Given the description of an element on the screen output the (x, y) to click on. 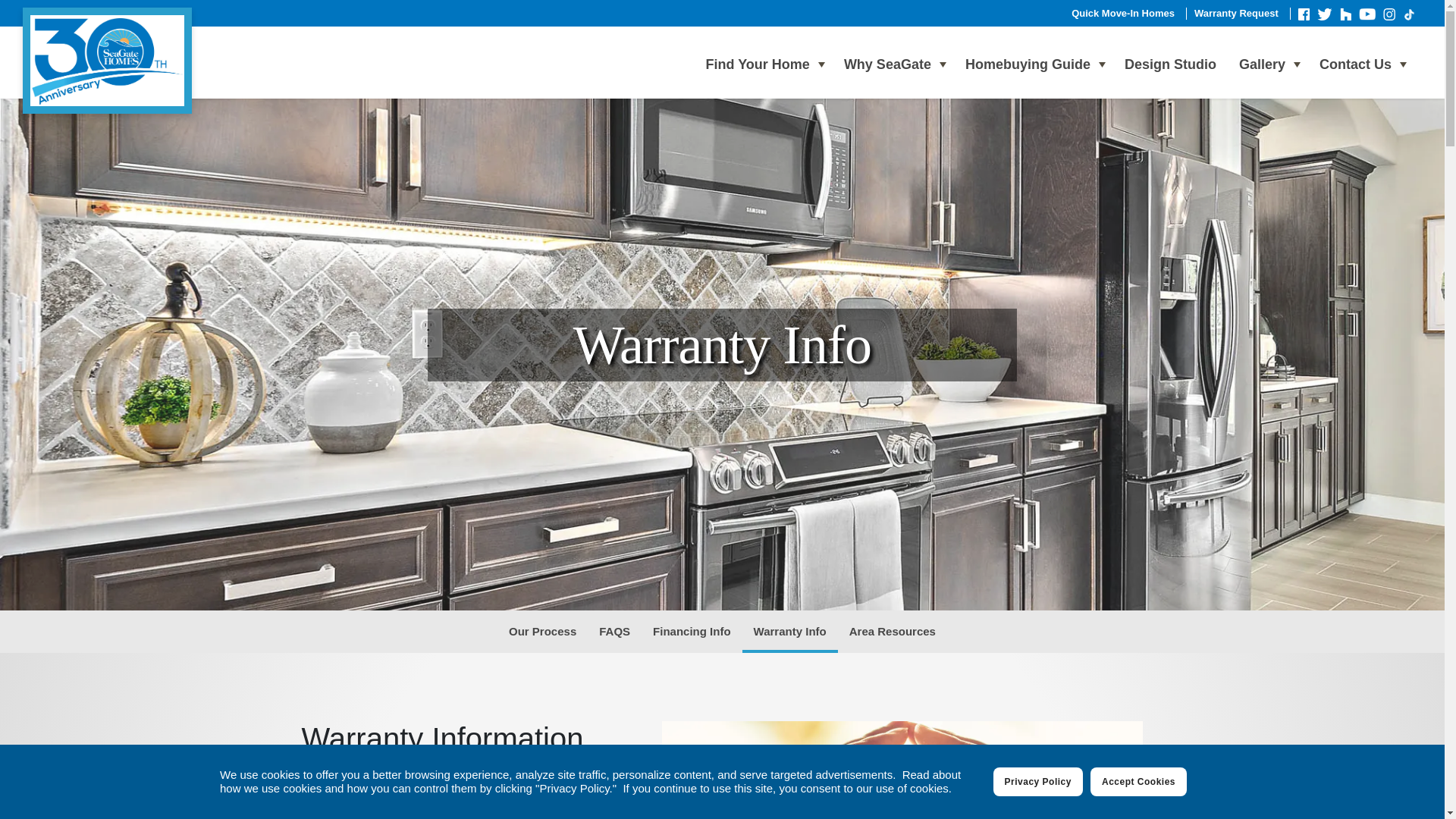
Design Studio (1169, 64)
Warranty Info (790, 631)
Financing Info (692, 631)
FAQS (615, 631)
Financing Info (692, 631)
Warranty Info (790, 631)
Area Resources (892, 631)
Quick Move-In Homes (1122, 12)
FAQS (615, 631)
Our Process (542, 631)
